Given the description of an element on the screen output the (x, y) to click on. 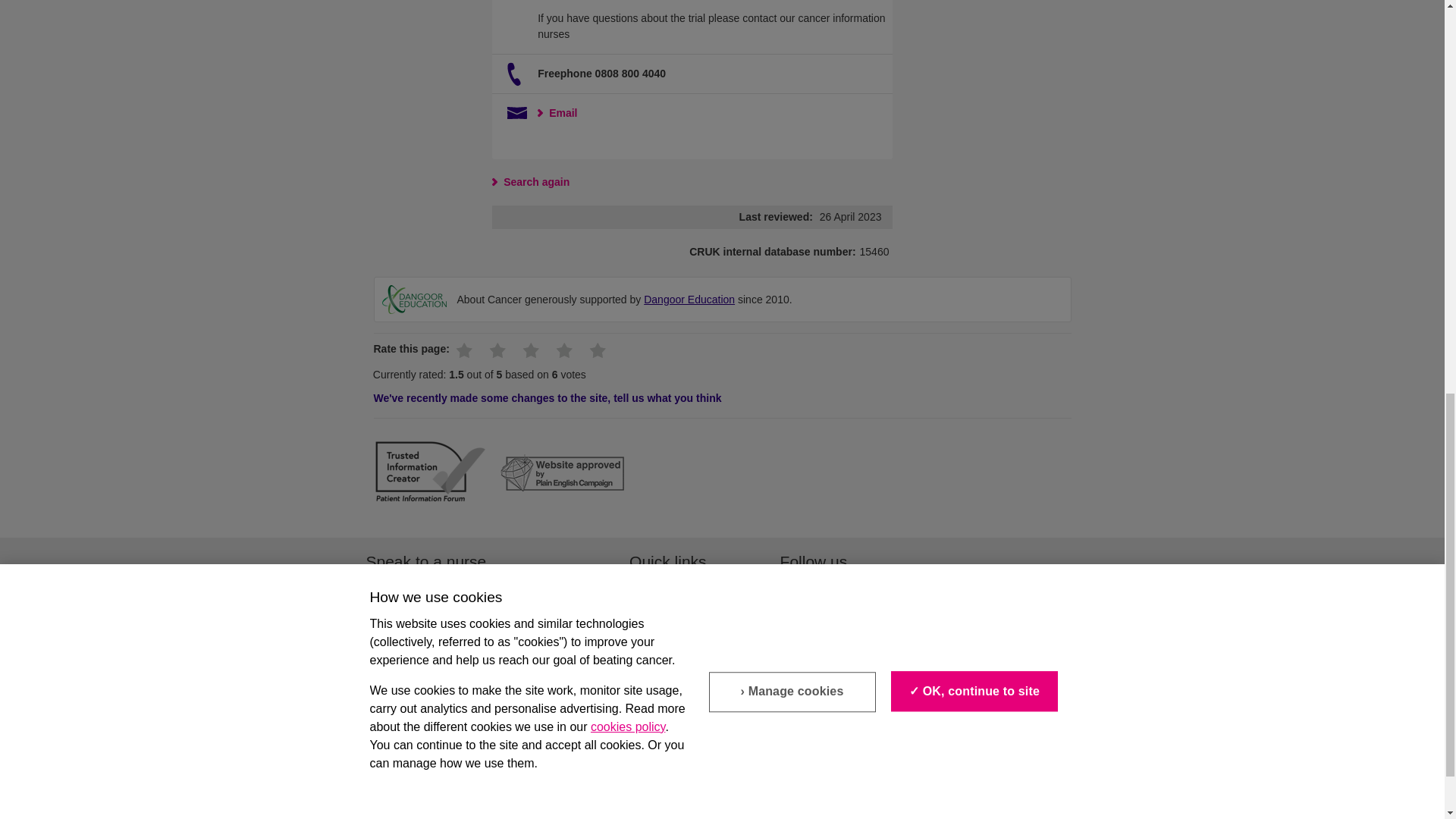
Visit the Patient Information Forum (429, 473)
Visit the Plain English Campaign (562, 474)
Dangoor Education (413, 299)
Visit Dangoor Education (689, 299)
